Given the description of an element on the screen output the (x, y) to click on. 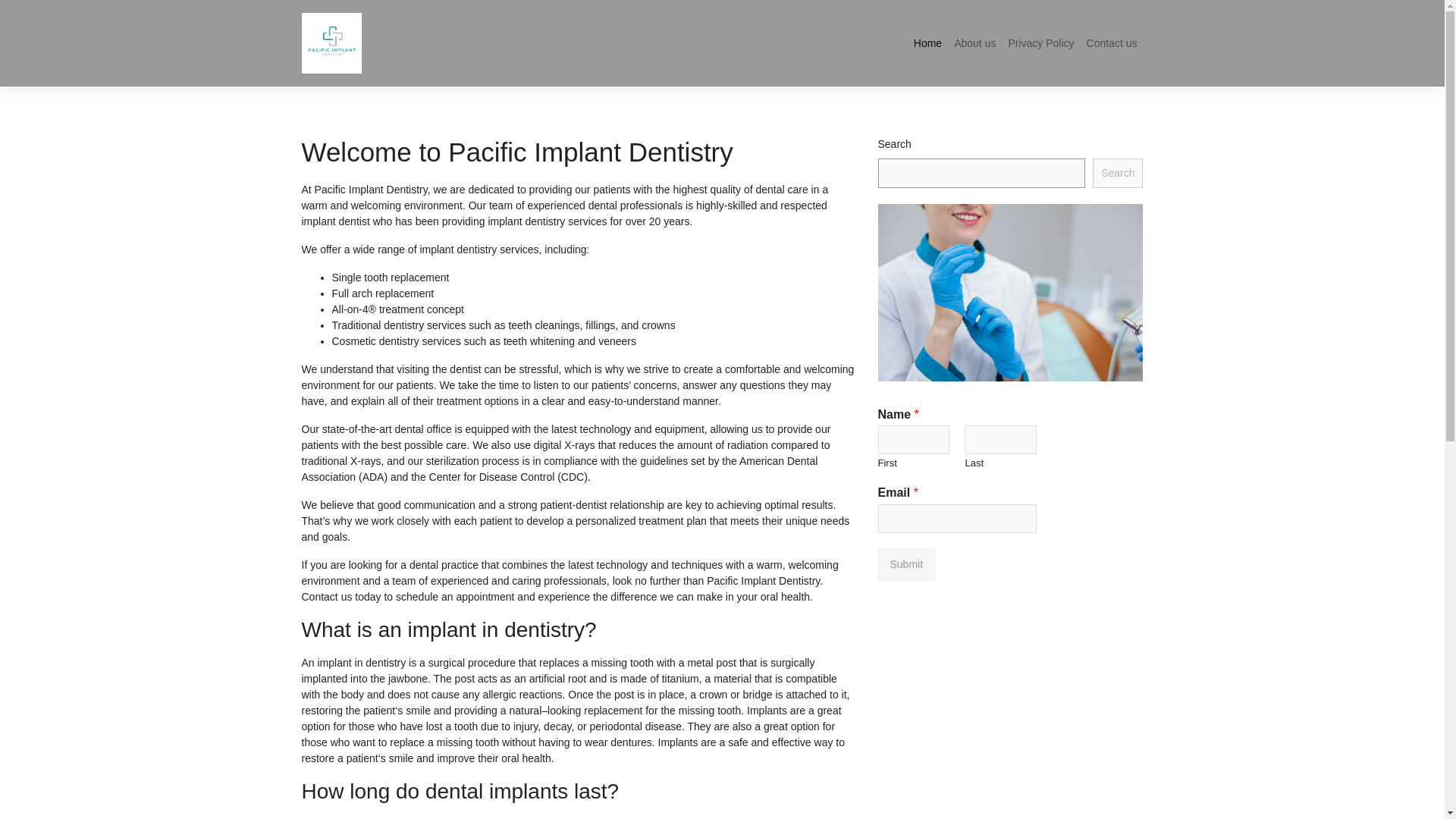
Contact us (1111, 43)
Contact us (1111, 43)
Submit (906, 563)
Home (927, 43)
Search (1117, 173)
Privacy Policy (1040, 43)
Privacy Policy (1040, 43)
About us (974, 43)
Home (927, 43)
About us (974, 43)
